Given the description of an element on the screen output the (x, y) to click on. 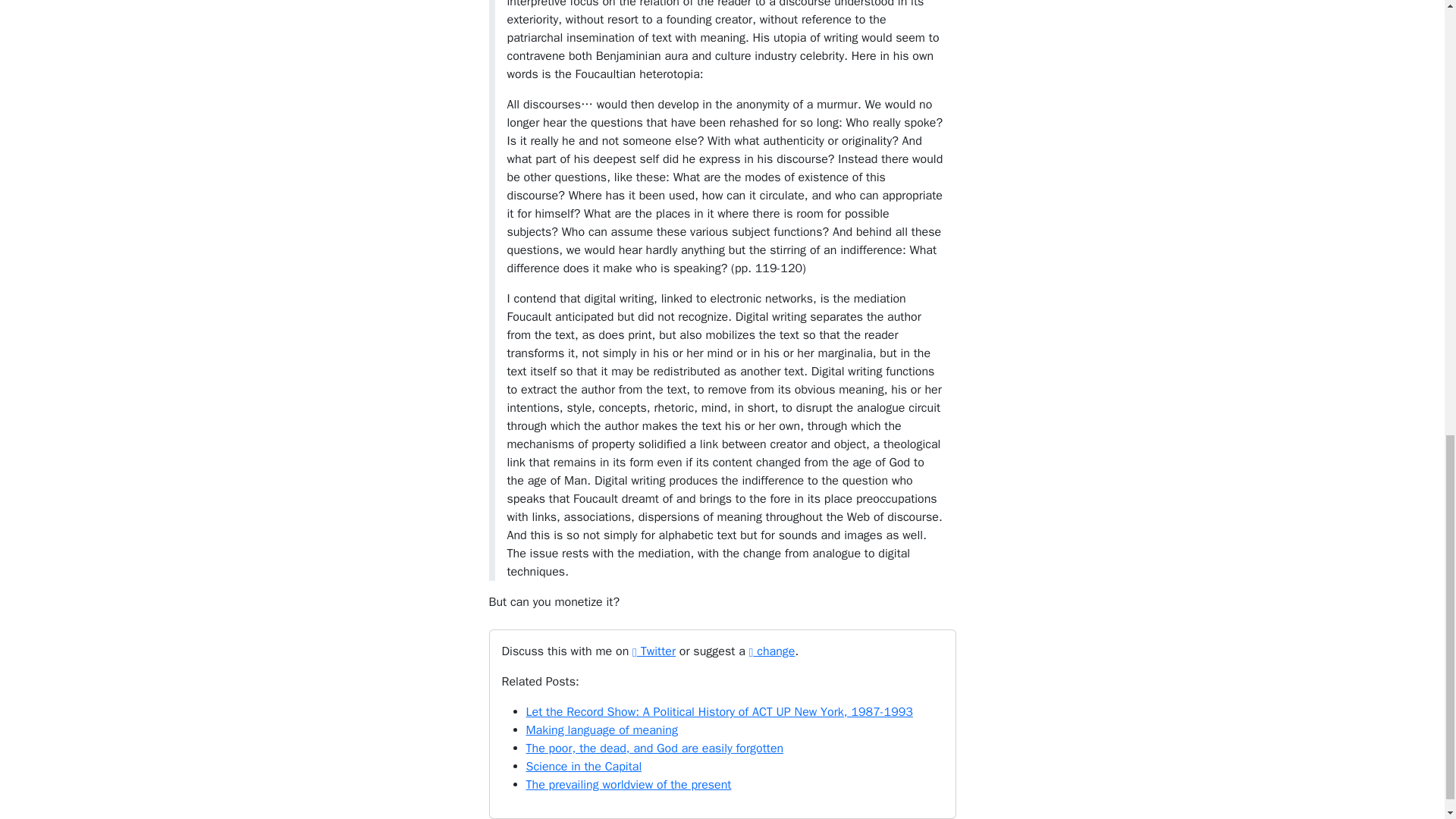
change (771, 651)
Twitter (653, 651)
The prevailing worldview of the present (628, 784)
Making language of meaning (601, 729)
The poor, the dead, and God are easily forgotten (654, 748)
Science in the Capital (583, 766)
